Given the description of an element on the screen output the (x, y) to click on. 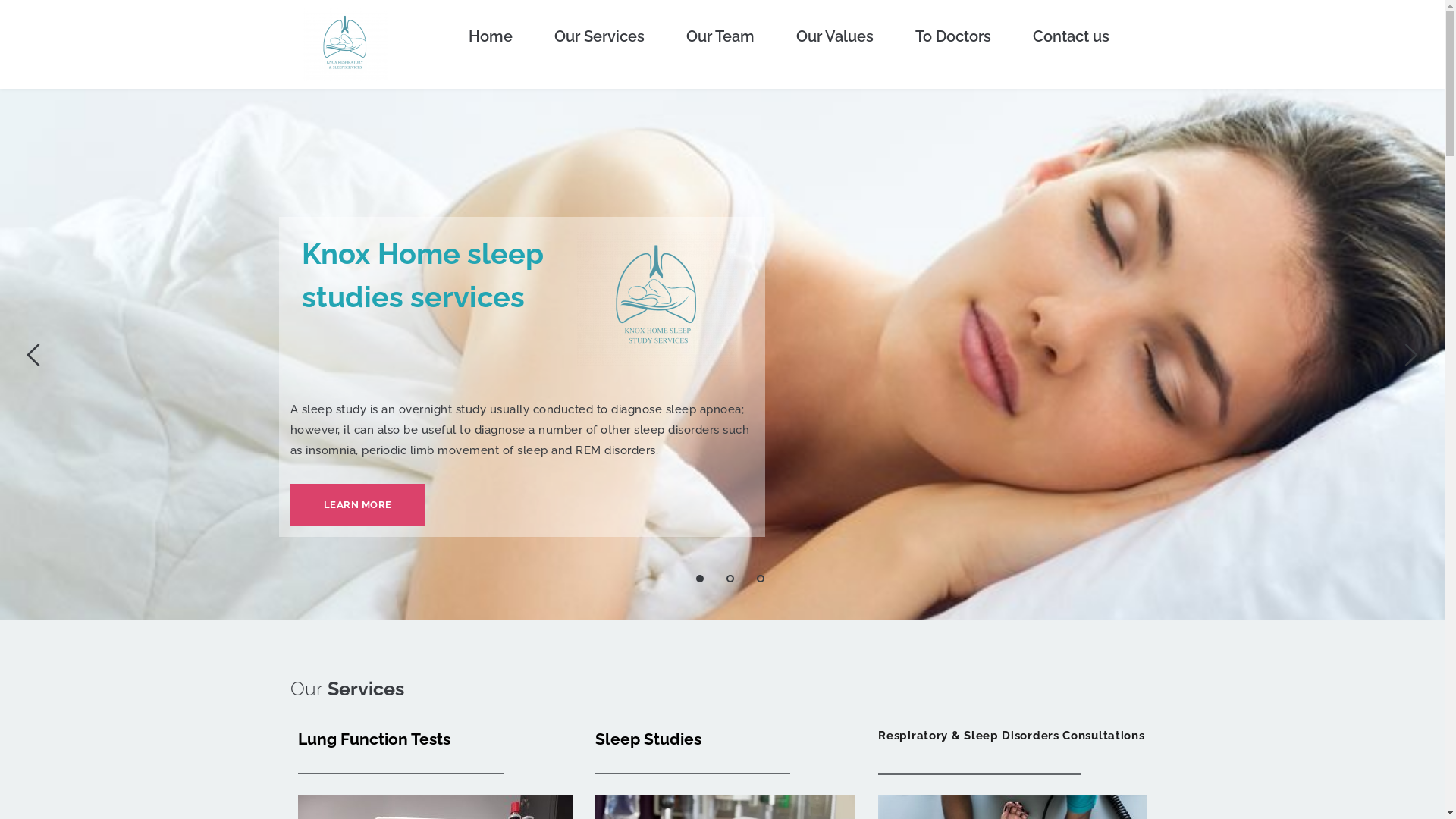
Contact us Element type: text (1071, 36)
Our Services Element type: text (599, 36)
Our Team Element type: text (720, 36)
1 Element type: text (699, 578)
To Doctors Element type: text (952, 36)
Our Values Element type: text (834, 36)
2 Element type: text (730, 578)
Home Element type: text (490, 36)
3 Element type: text (760, 578)
LEARN MORE Element type: text (356, 504)
